Given the description of an element on the screen output the (x, y) to click on. 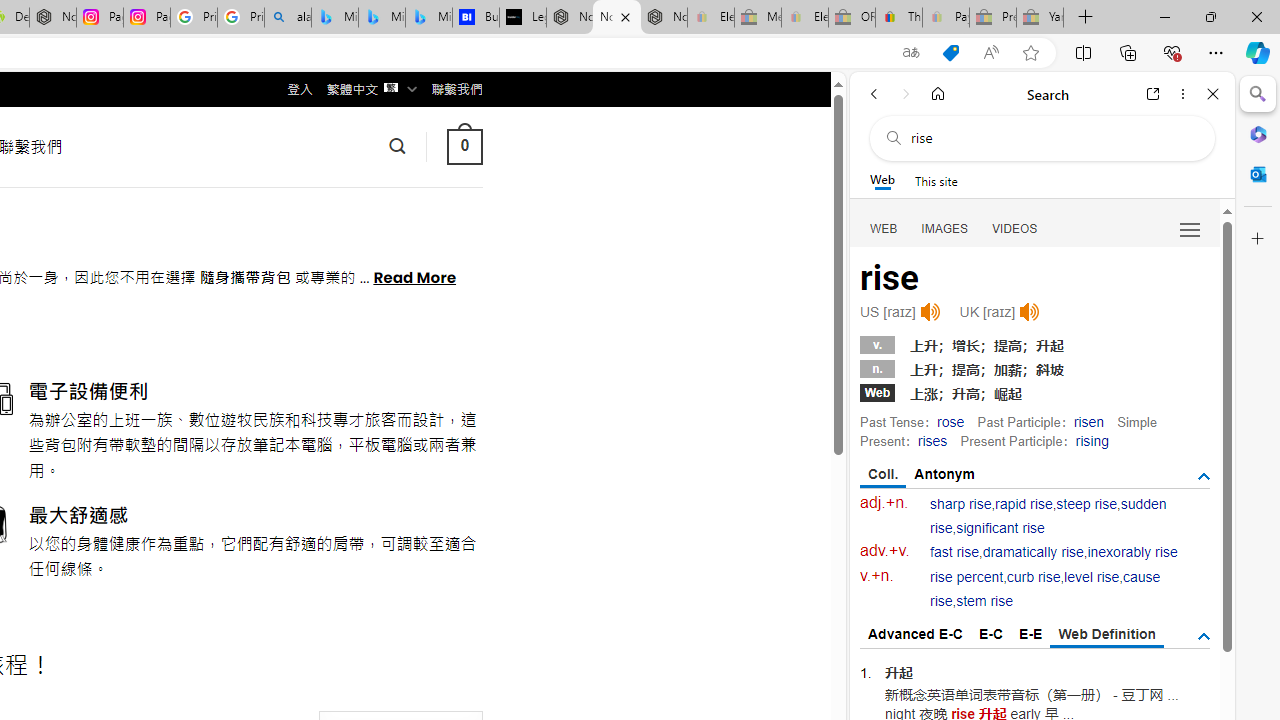
cause rise (1045, 589)
rapid rise (1023, 503)
sudden rise (1048, 515)
risen (1088, 421)
